Given the description of an element on the screen output the (x, y) to click on. 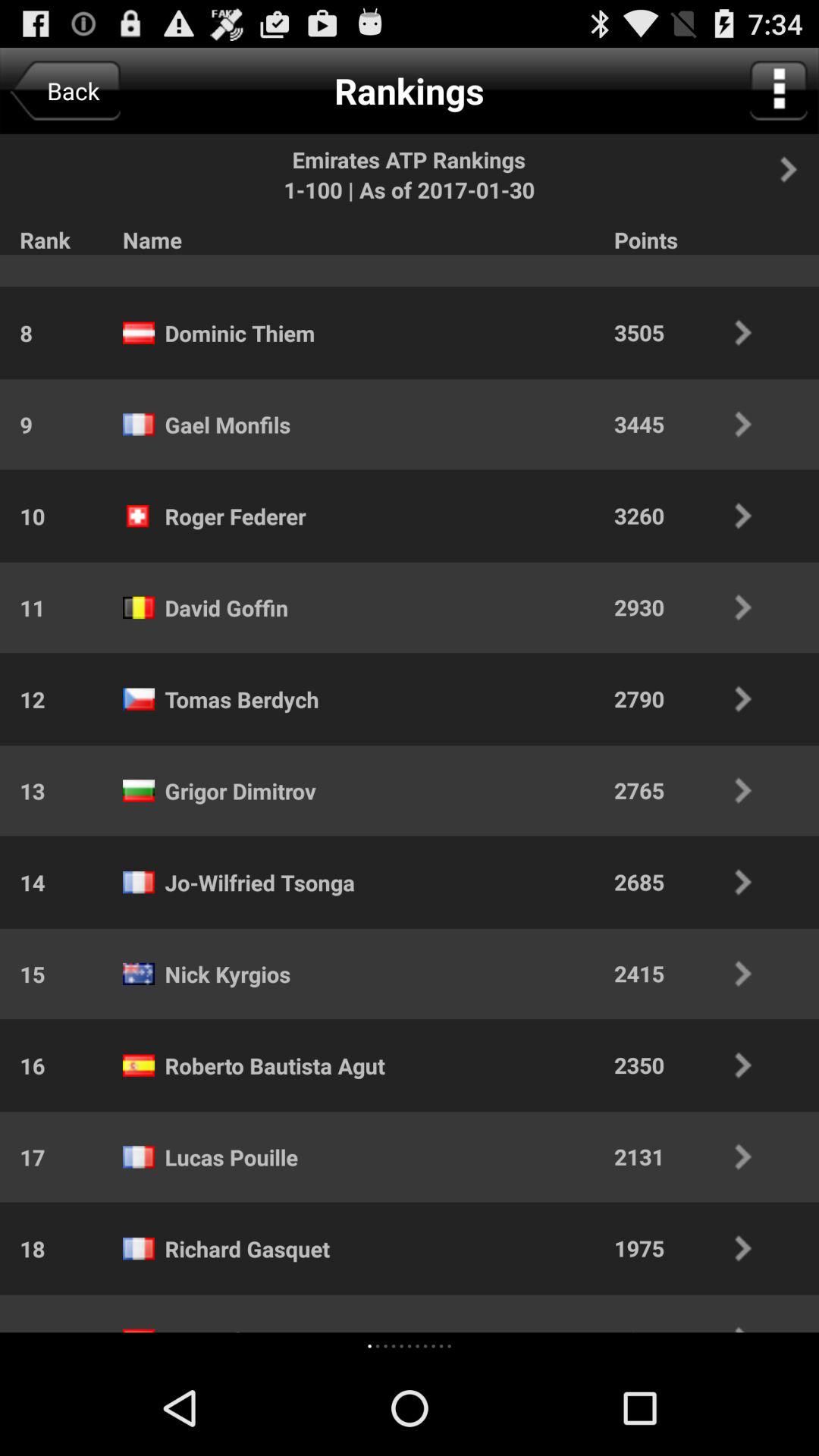
open item below roberto bautista agut item (393, 1345)
